Given the description of an element on the screen output the (x, y) to click on. 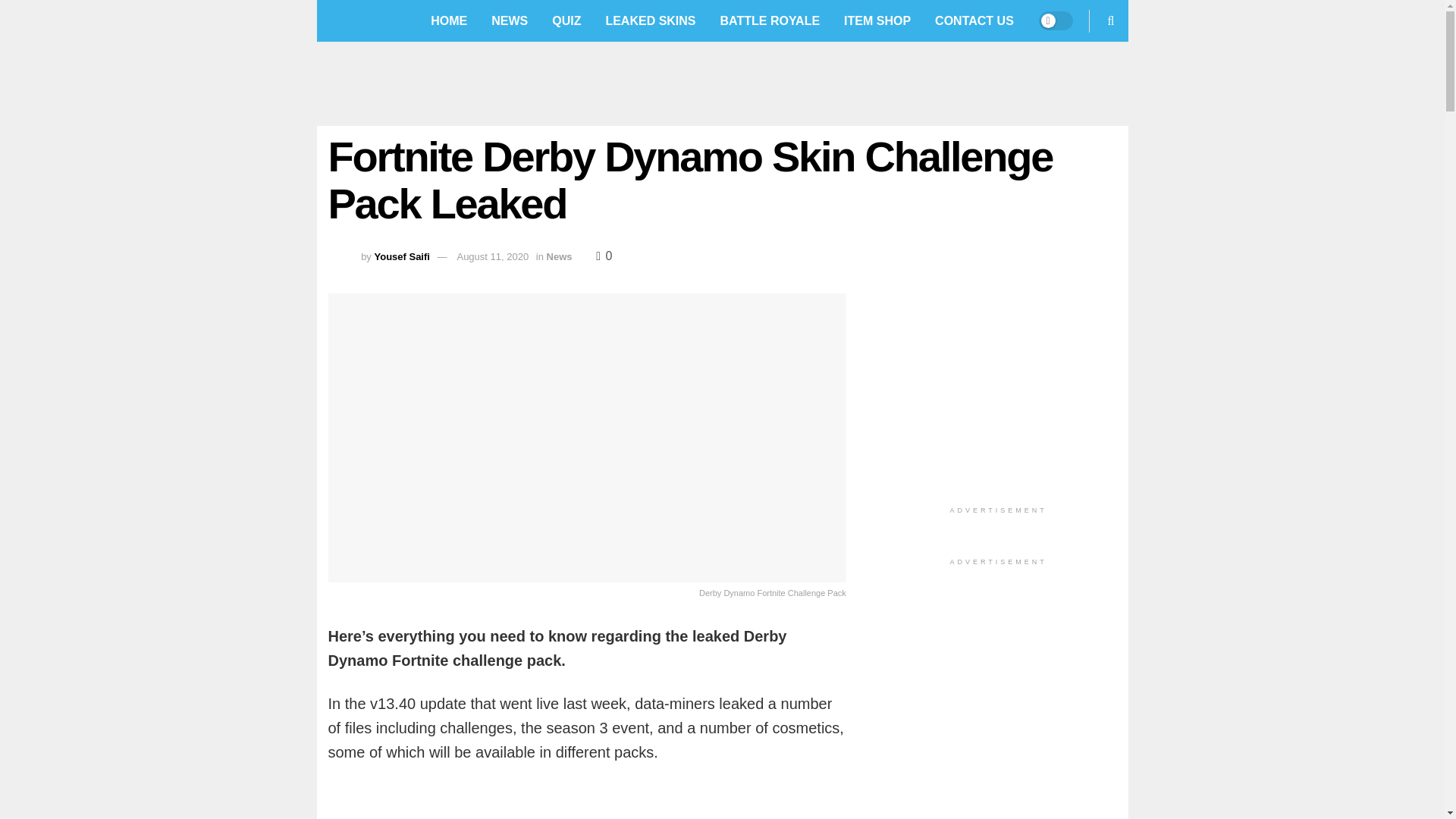
LEAKED SKINS (649, 20)
BATTLE ROYALE (769, 20)
QUIZ (566, 20)
Yousef Saifi (401, 256)
0 (603, 255)
ITEM SHOP (877, 20)
NEWS (509, 20)
HOME (449, 20)
August 11, 2020 (492, 256)
CONTACT US (974, 20)
News (559, 256)
